Given the description of an element on the screen output the (x, y) to click on. 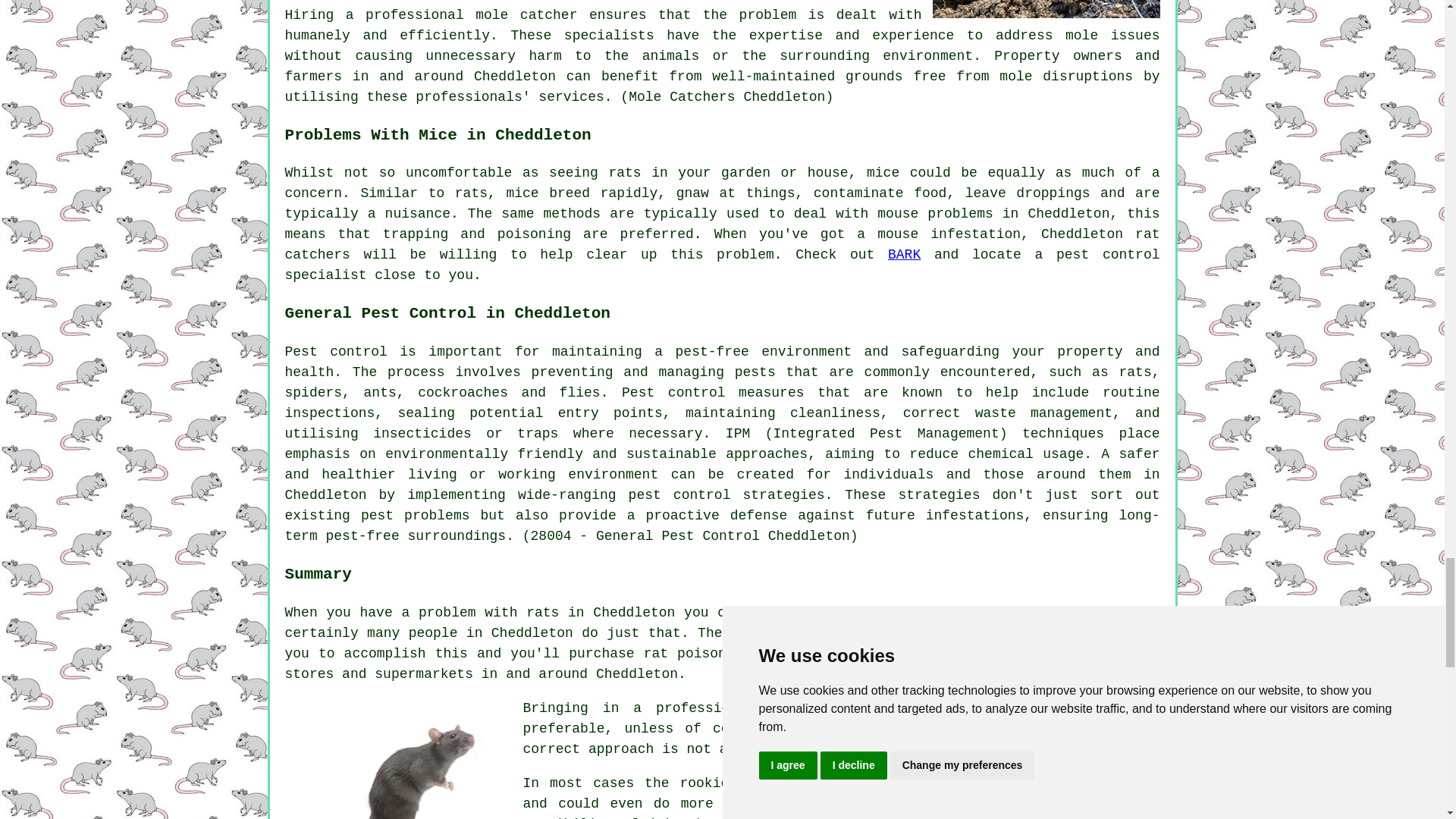
Mole Catchers Cheddleton (1046, 9)
